Given the description of an element on the screen output the (x, y) to click on. 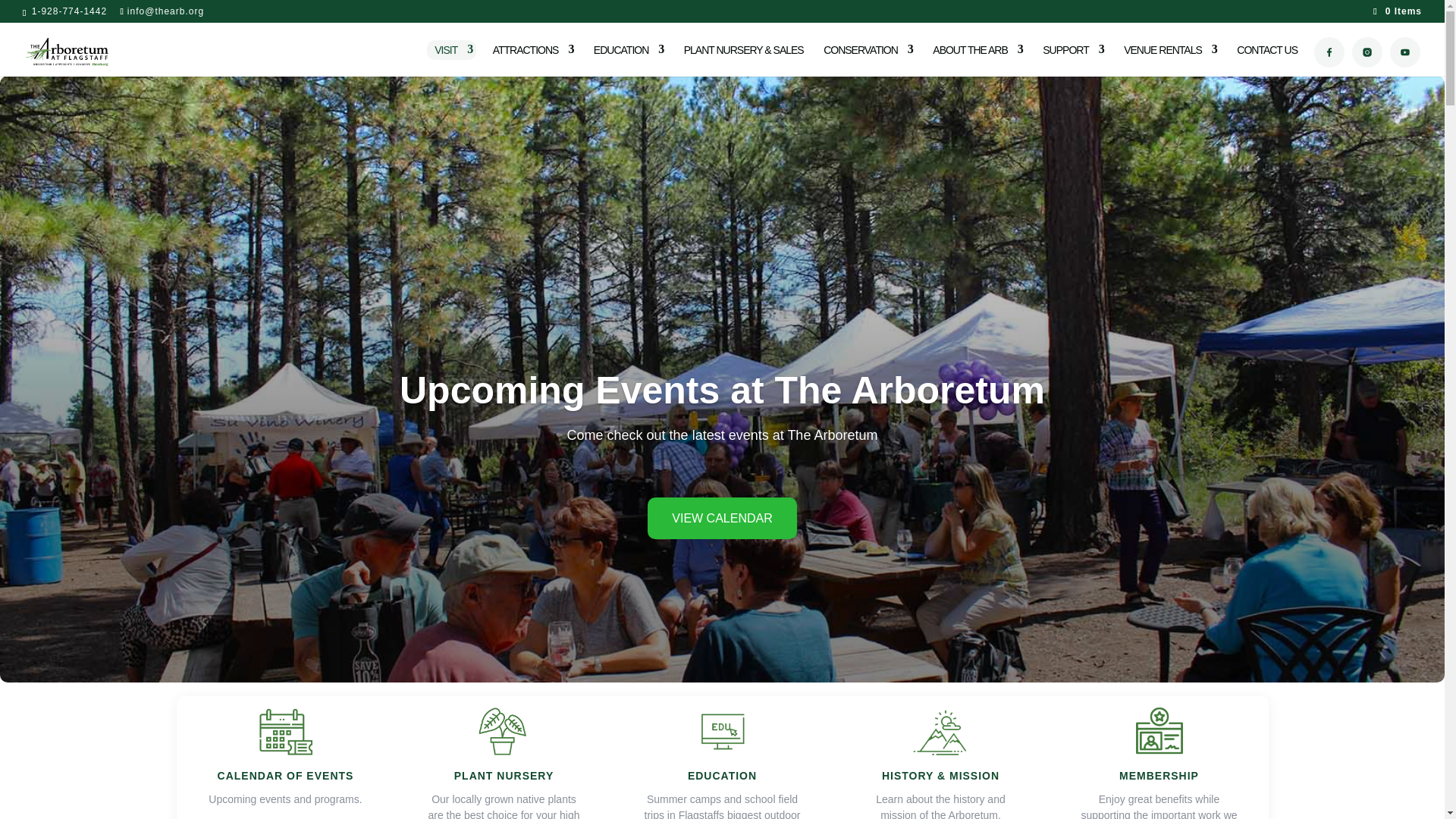
1-928-774-1442 (66, 10)
CONSERVATION (868, 57)
EDUCATION (628, 57)
VISIT (452, 57)
ABOUT THE ARB (978, 57)
0 Items (1397, 10)
PLANT NURSERY ICON (503, 730)
EDUCATION ICON (721, 730)
SUPPORT (1072, 57)
ATTRACTIONS (533, 57)
THE ARB ICON (940, 730)
vip icons (1158, 730)
